Given the description of an element on the screen output the (x, y) to click on. 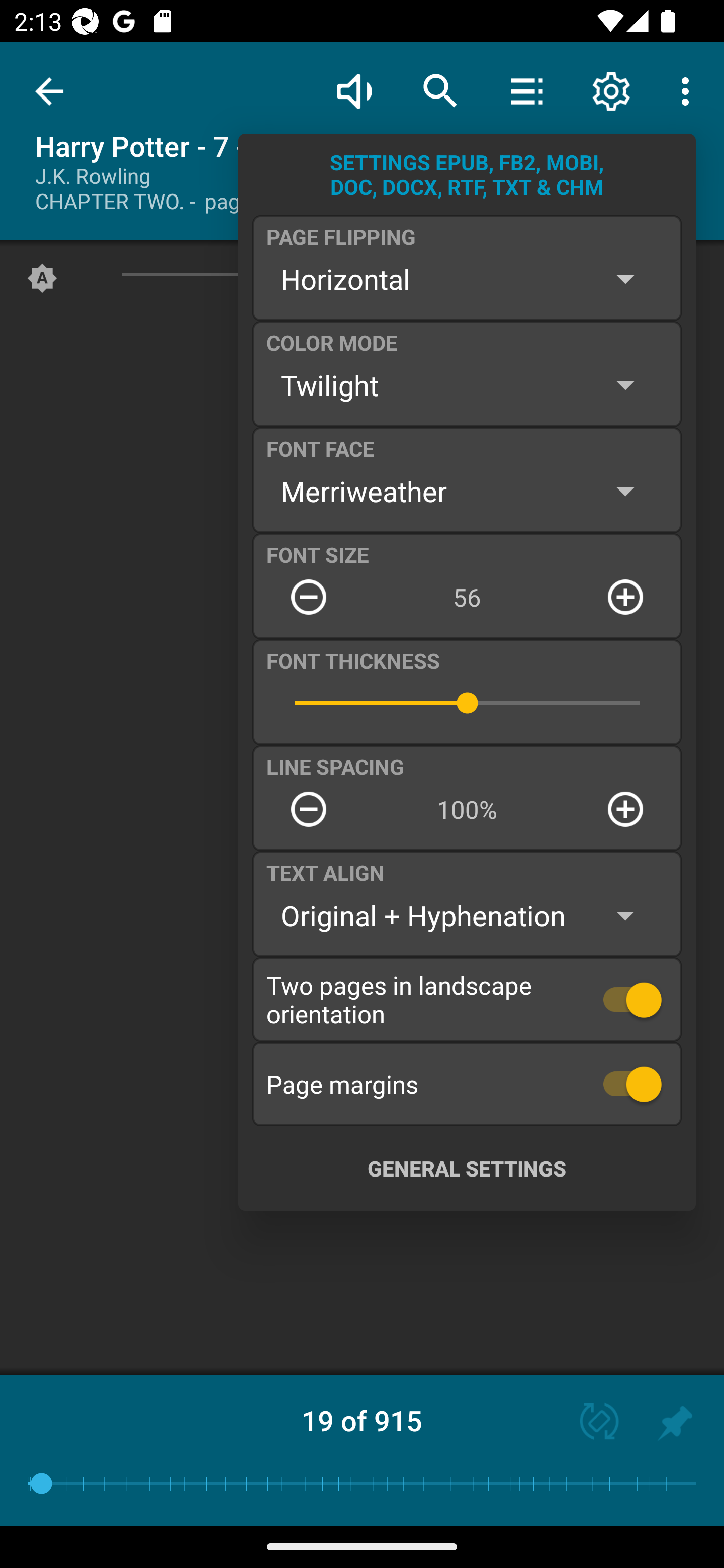
Horizontal (466, 278)
Twilight (466, 384)
Merriweather (466, 490)
Original + Hyphenation (466, 915)
Two pages in landscape orientation (467, 999)
Page margins (467, 1083)
GENERAL SETTINGS (466, 1167)
